Given the description of an element on the screen output the (x, y) to click on. 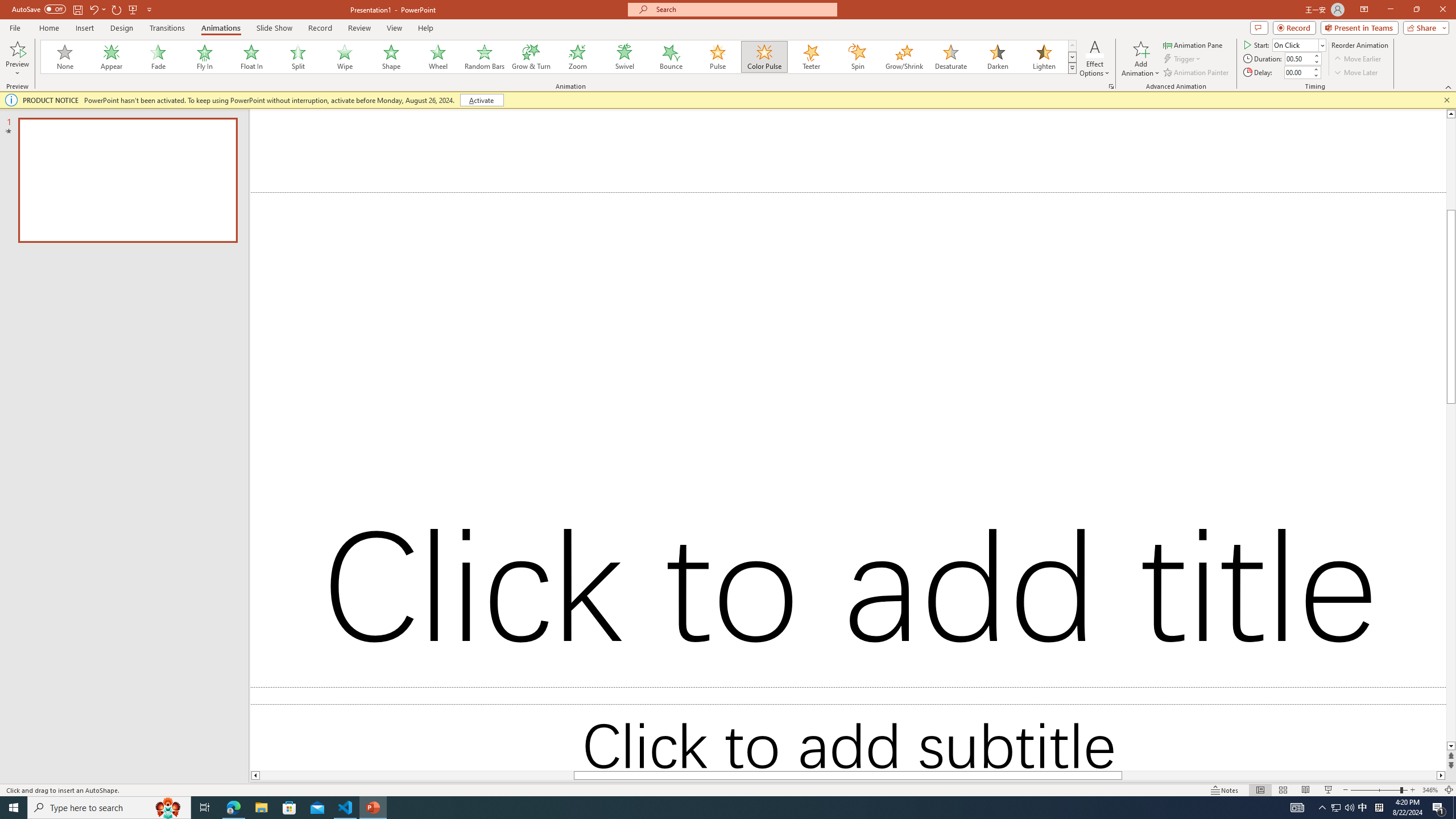
More Options... (1110, 85)
Float In (251, 56)
Add Animation (1141, 58)
None (65, 56)
Appear (111, 56)
Move Later (1355, 72)
Animation Delay (1297, 72)
Animation Pane (1193, 44)
